Given the description of an element on the screen output the (x, y) to click on. 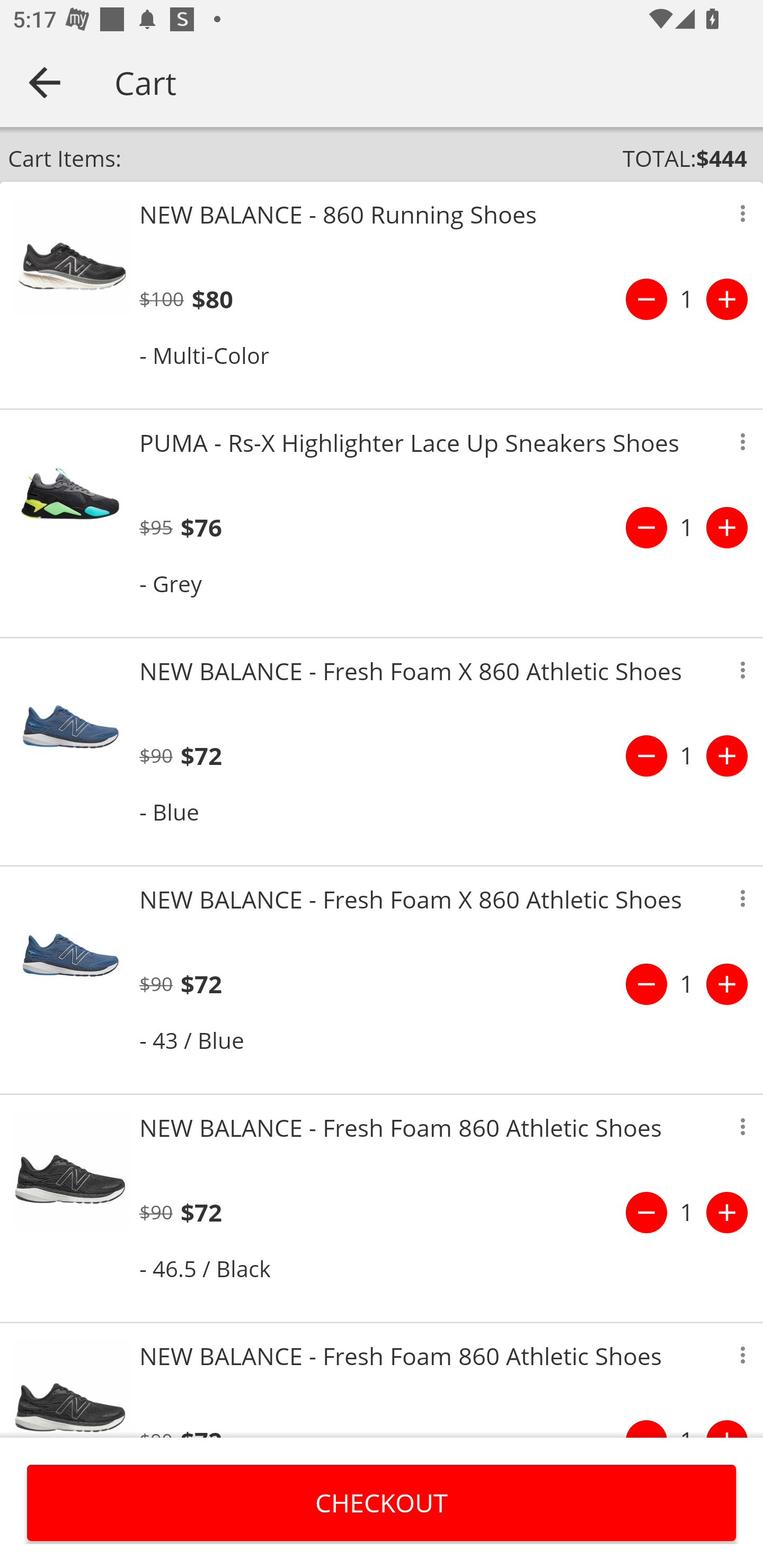
Navigate up (44, 82)
1 (686, 299)
1 (686, 527)
1 (686, 755)
1 (686, 984)
1 (686, 1211)
CHECKOUT (381, 1502)
